Given the description of an element on the screen output the (x, y) to click on. 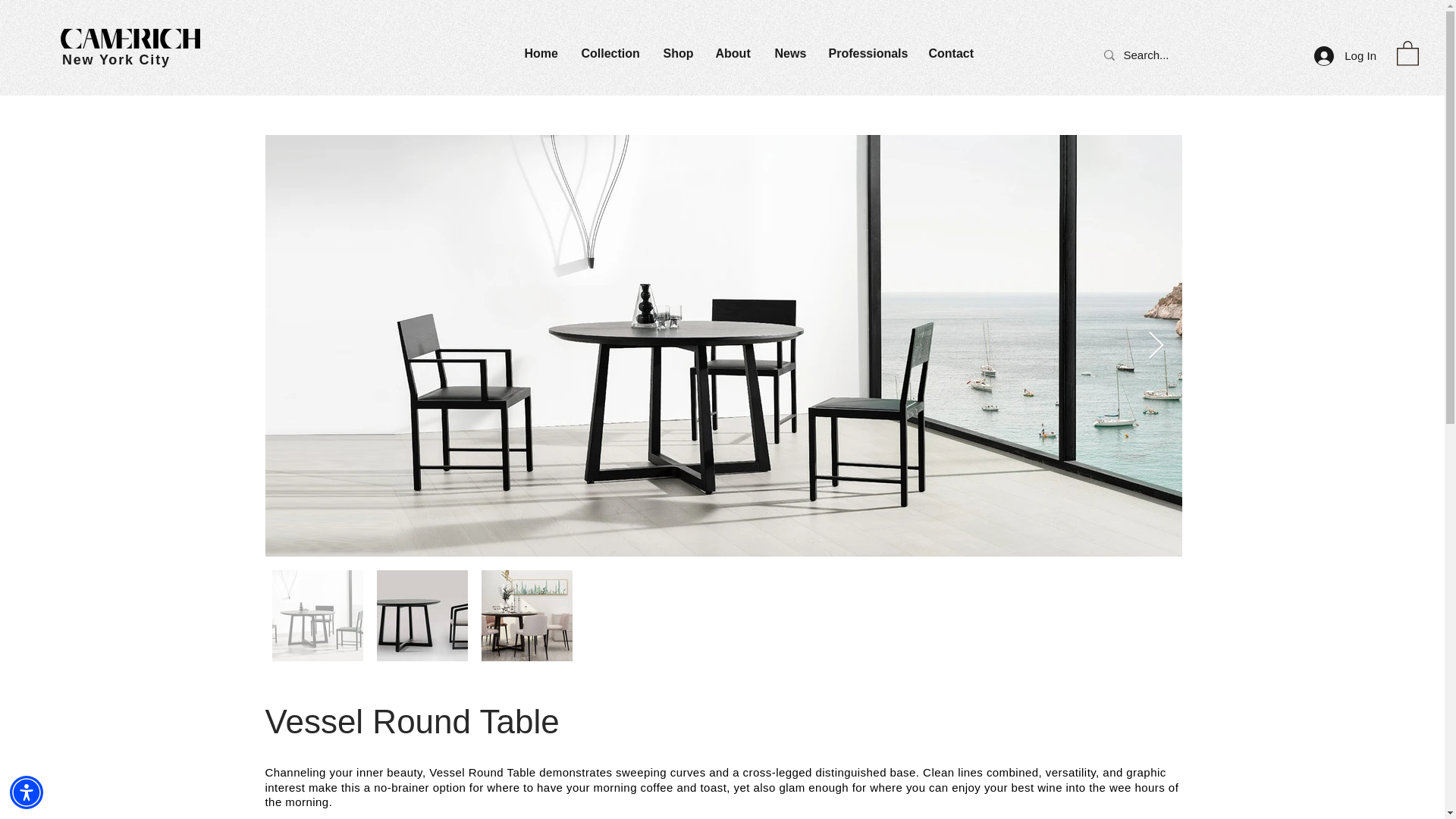
News (789, 53)
Professionals (866, 53)
Shop (678, 53)
About (732, 53)
Collection (611, 53)
New York City (116, 59)
Home (540, 53)
Accessibility Menu (26, 792)
Contact (953, 53)
Log In (1345, 54)
